Given the description of an element on the screen output the (x, y) to click on. 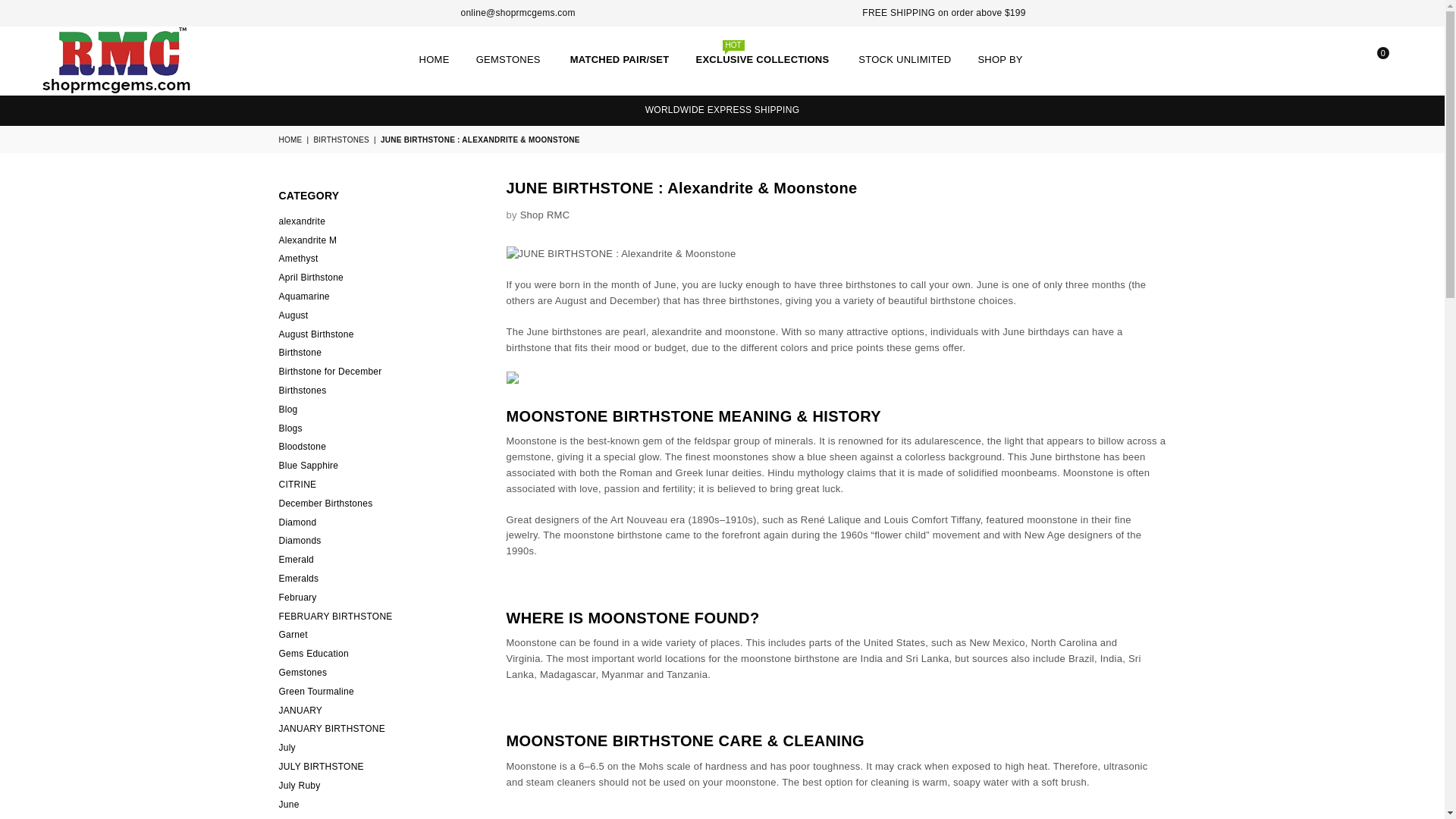
Linkedin (421, 12)
shoprmcgems on Tumblr (376, 12)
shoprmcgems on YouTube (399, 12)
Cart (1371, 60)
YouTube (399, 12)
HOME (434, 60)
shoprmcgems on Twitter (308, 12)
Instagram (353, 12)
SEARCH (1319, 60)
SHOPRMCGEMS (117, 60)
shoprmcgems on Whatsapp (445, 12)
Facebook (286, 12)
Whatsapp (445, 12)
shoprmcgems on Linkedin (421, 12)
GEMSTONES (509, 60)
